Given the description of an element on the screen output the (x, y) to click on. 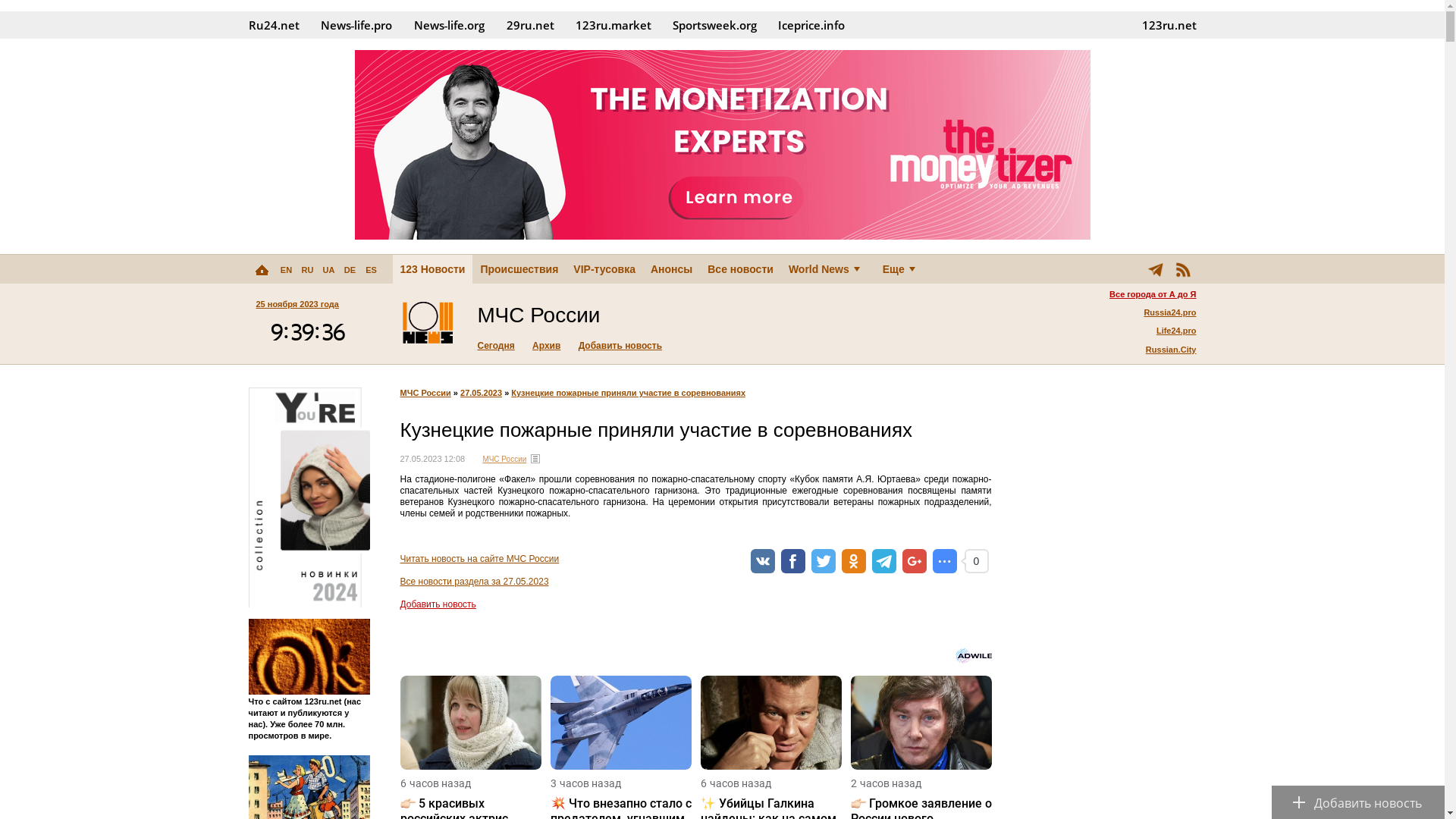
World News Element type: text (828, 268)
Russia24.pro Element type: text (1152, 108)
123ru.net Element type: text (1169, 24)
103news.com Element type: hover (427, 323)
29ru.net Element type: text (529, 24)
27.05.2023 Element type: text (481, 188)
DE Element type: text (349, 268)
Iceprice.info Element type: text (811, 24)
123ru.market Element type: text (612, 24)
Ru24.net Element type: text (274, 24)
UA Element type: text (328, 268)
ES Element type: text (371, 268)
Life24.pro Element type: text (1152, 126)
RU Element type: text (307, 268)
EN Element type: text (286, 268)
Sportsweek.org Element type: text (713, 24)
Russian.City Element type: text (1152, 145)
